Given the description of an element on the screen output the (x, y) to click on. 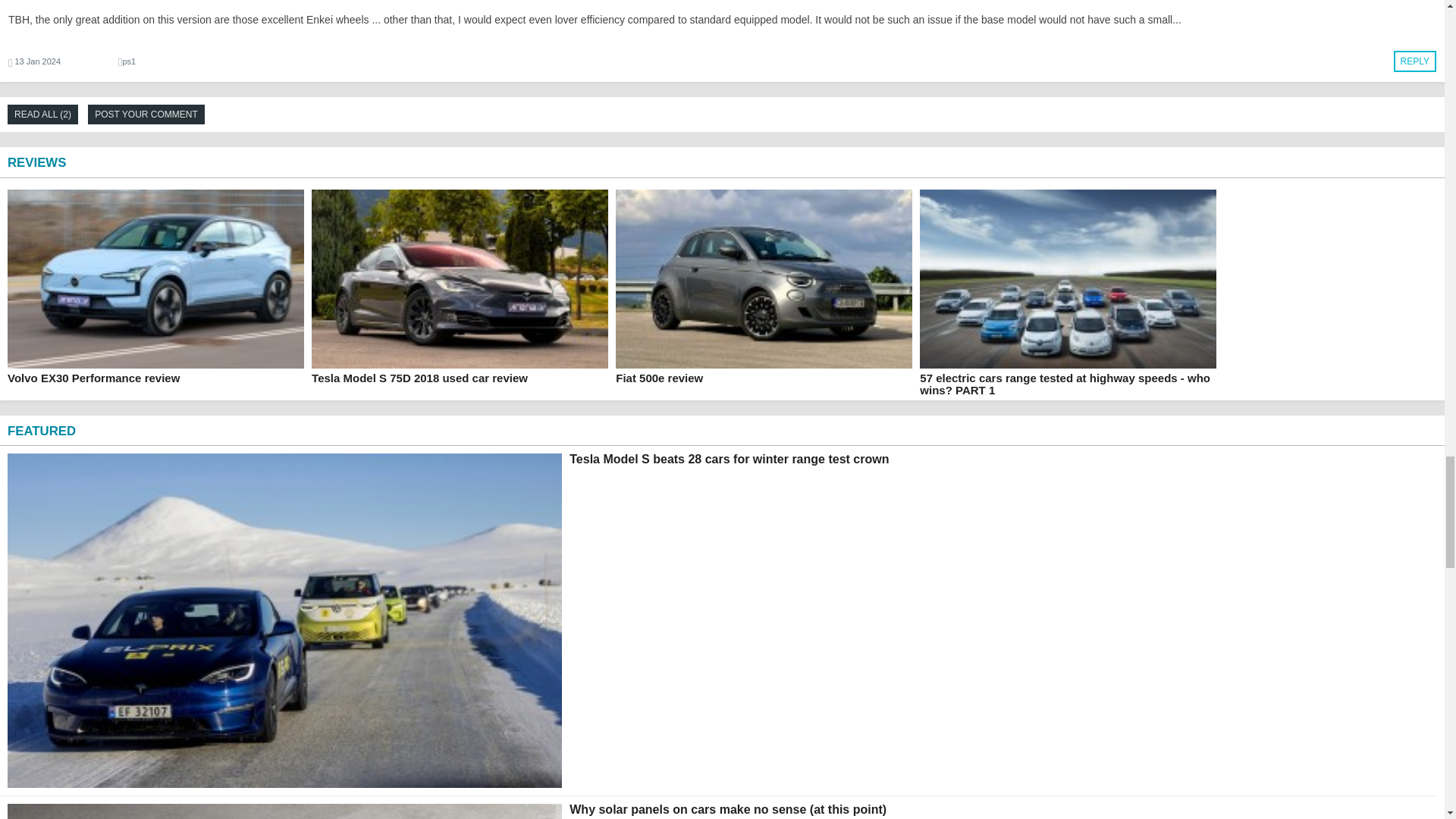
Reply to this post (1414, 61)
Posts (100, 4)
Encoded anonymized location (128, 61)
